Given the description of an element on the screen output the (x, y) to click on. 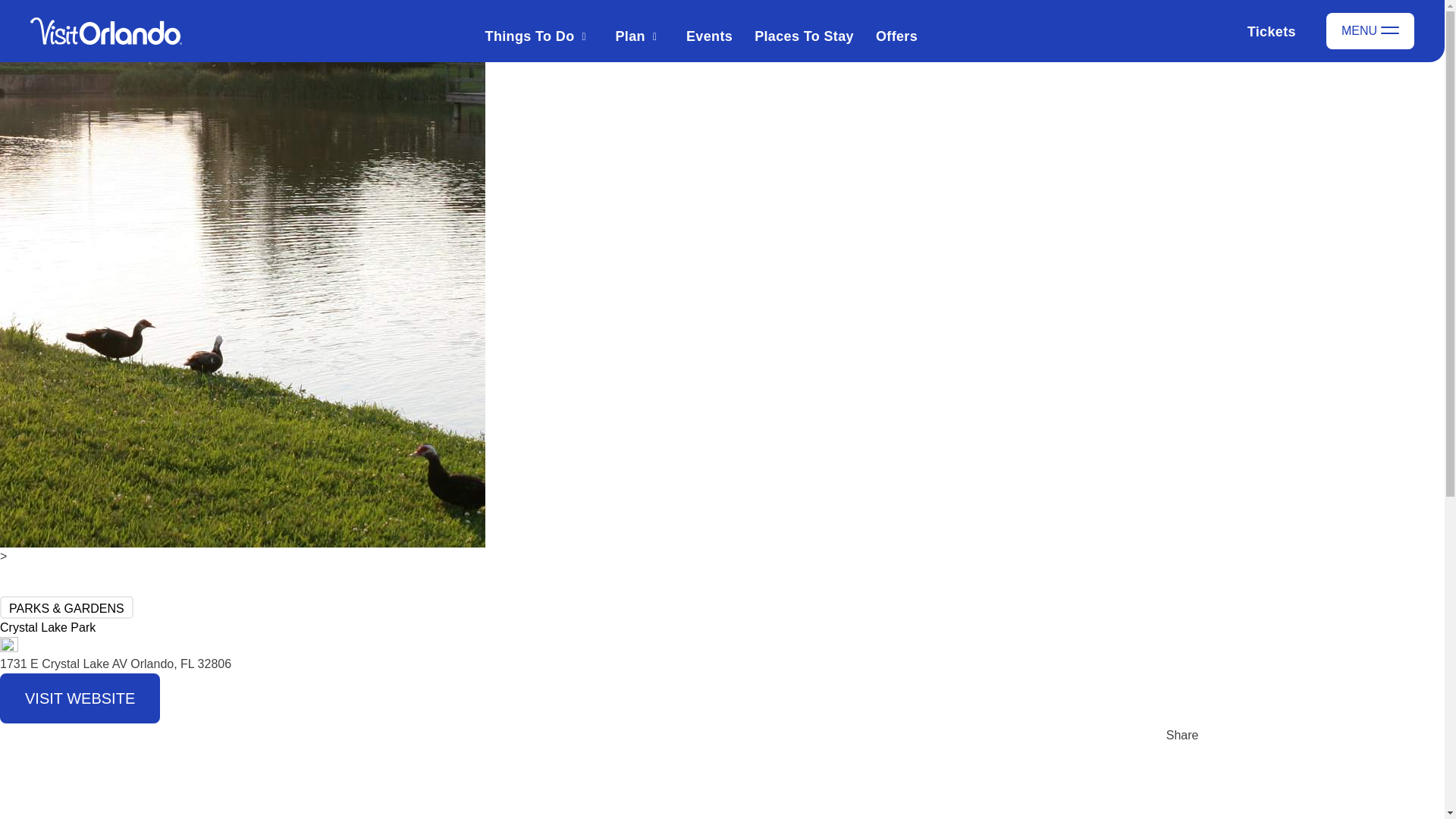
Plan (630, 36)
Things To Do (529, 36)
Offers (896, 36)
Tickets (1258, 30)
Events (708, 36)
Places To Stay (803, 36)
MENU (1369, 31)
